Given the description of an element on the screen output the (x, y) to click on. 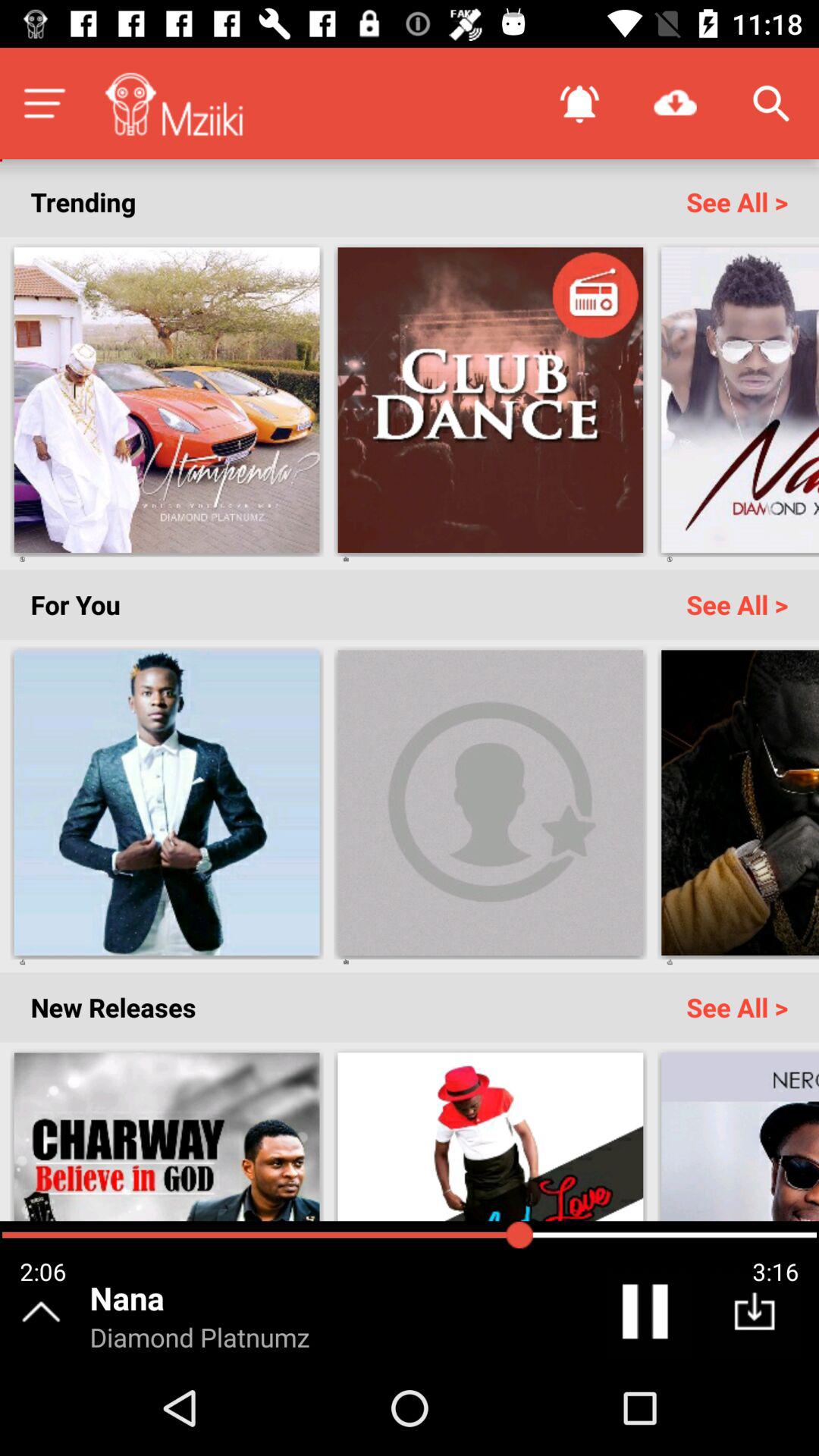
pause the song (647, 1315)
